Given the description of an element on the screen output the (x, y) to click on. 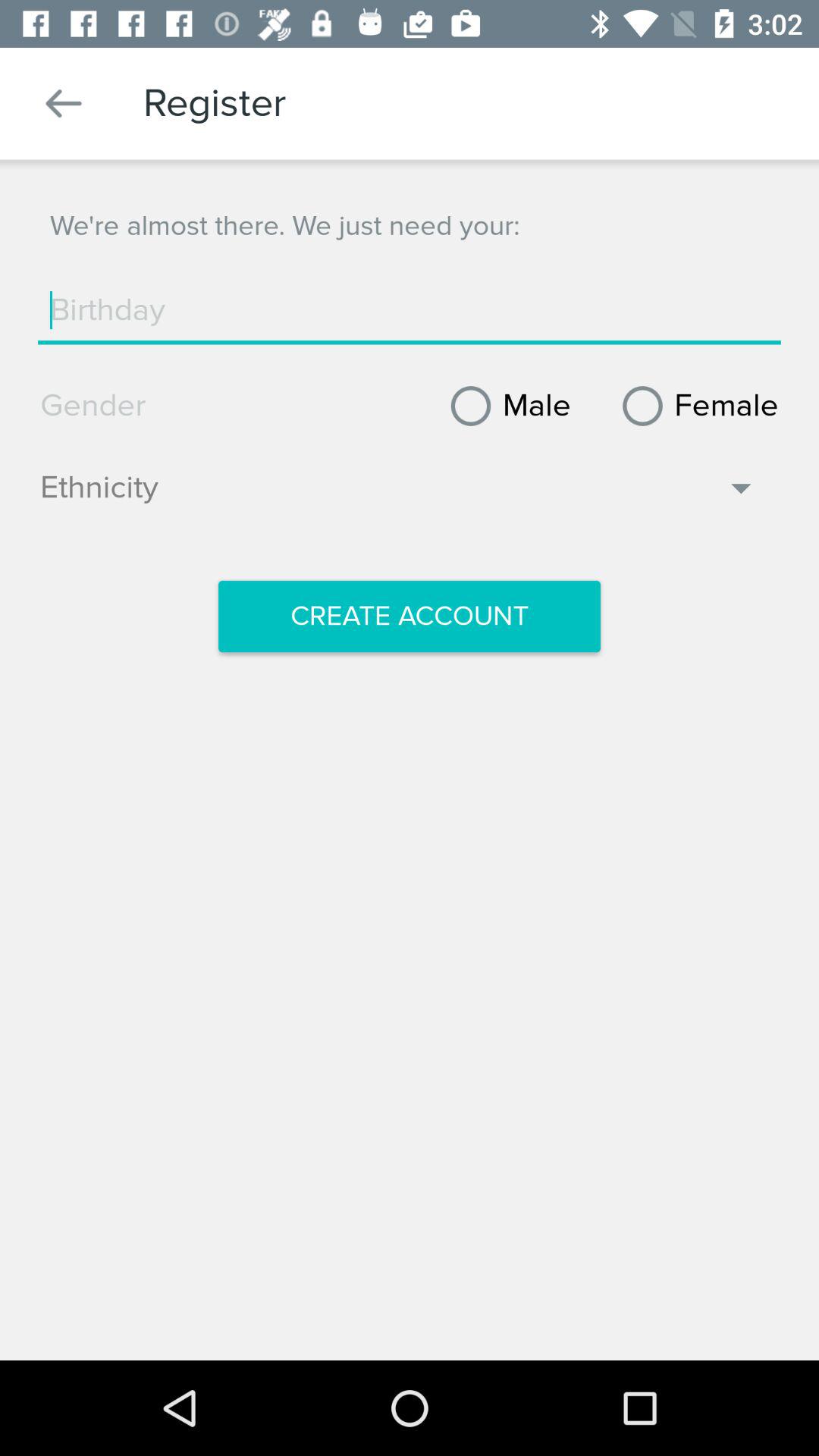
click item above the male item (409, 310)
